Given the description of an element on the screen output the (x, y) to click on. 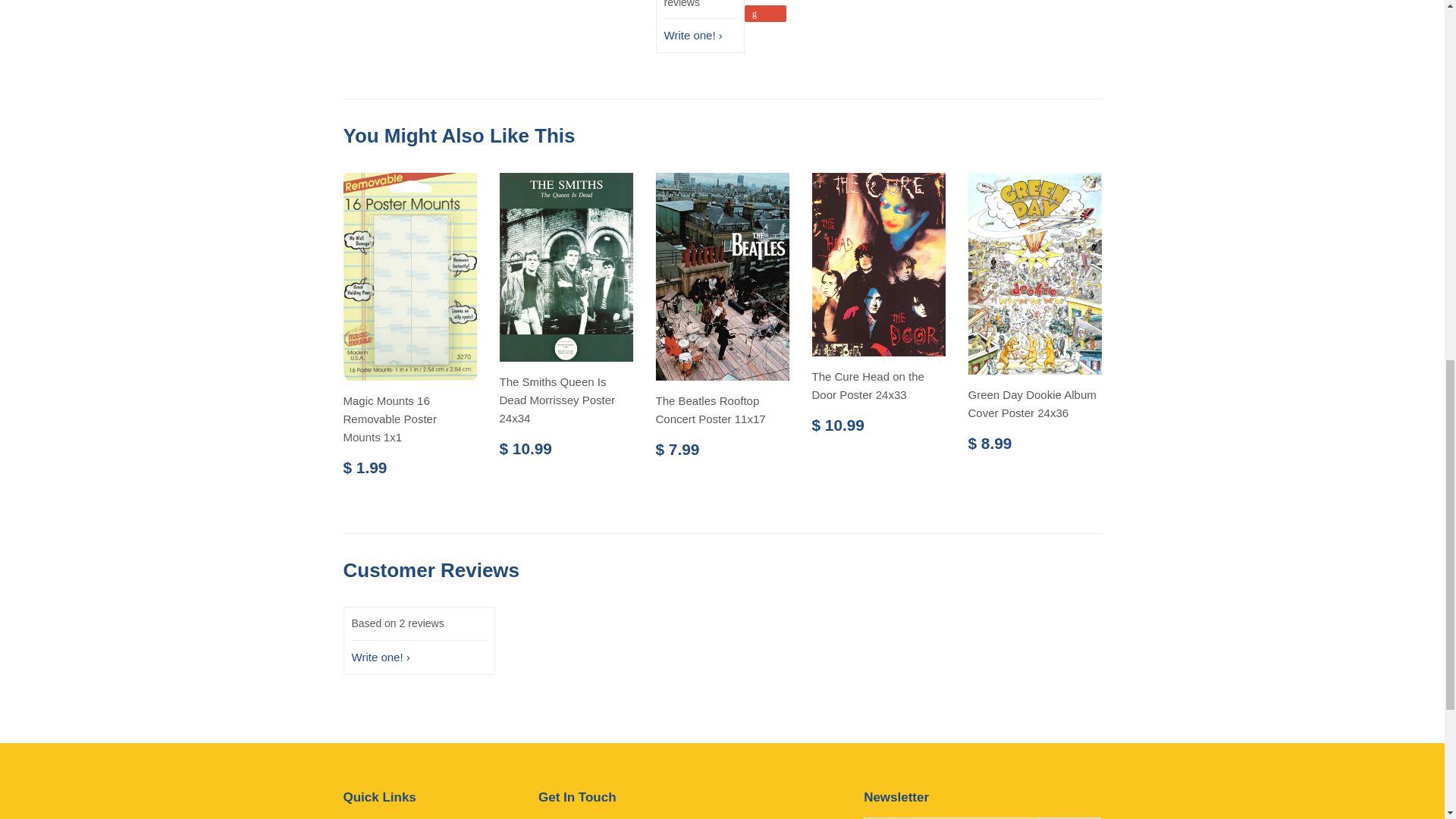
Sign Up (1070, 818)
